Given the description of an element on the screen output the (x, y) to click on. 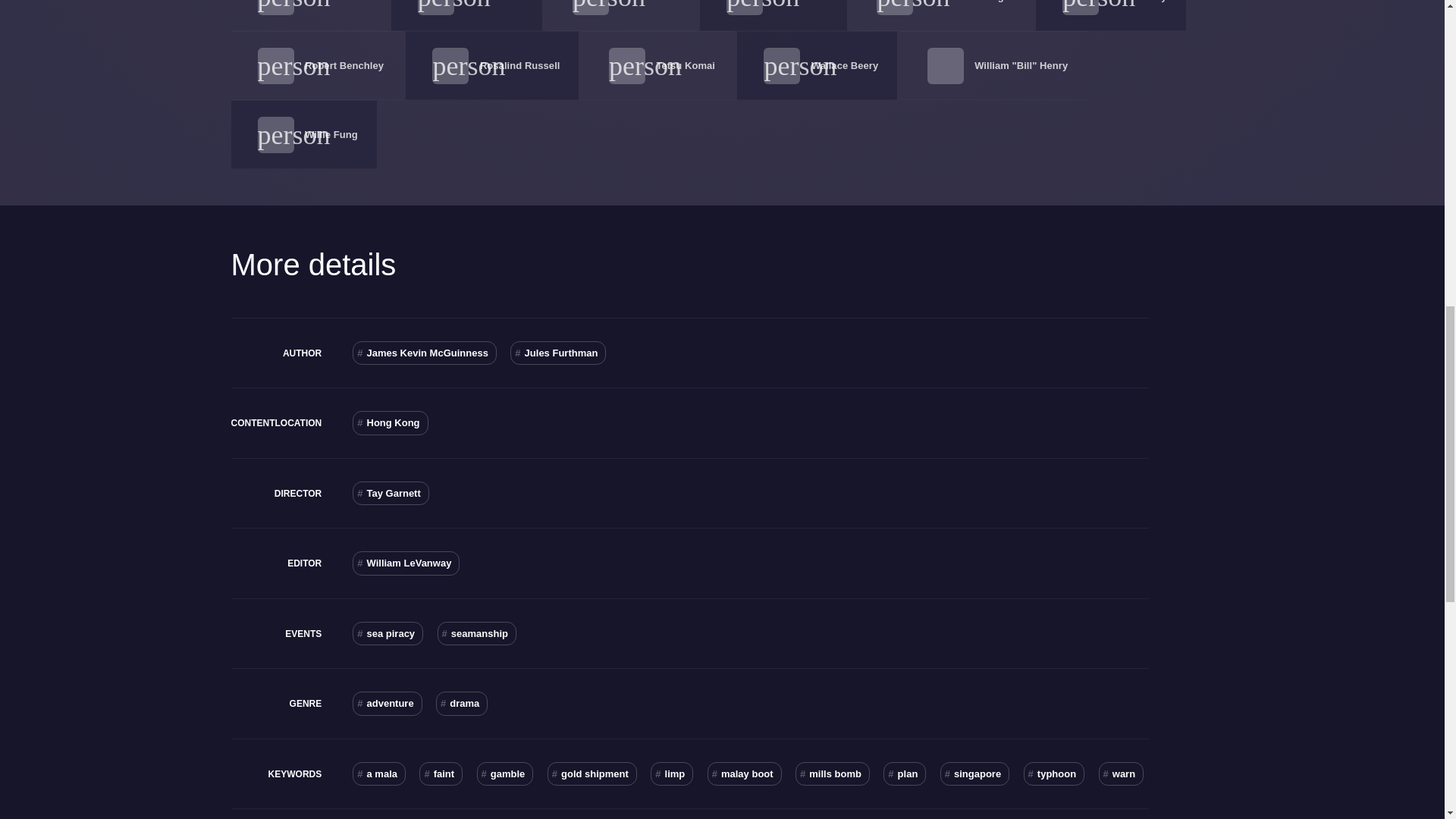
Jean Harlow (493, 1)
Wallace Beery (843, 65)
Lilian Bond (801, 1)
William "Bill" Henry (1020, 65)
Lewis Stone (648, 1)
Malcolm McGregor (968, 1)
Tetsu Komai (685, 65)
Ivan Lebedeff (336, 1)
Robert Benchley (344, 65)
Rosalind Russell (520, 65)
